Given the description of an element on the screen output the (x, y) to click on. 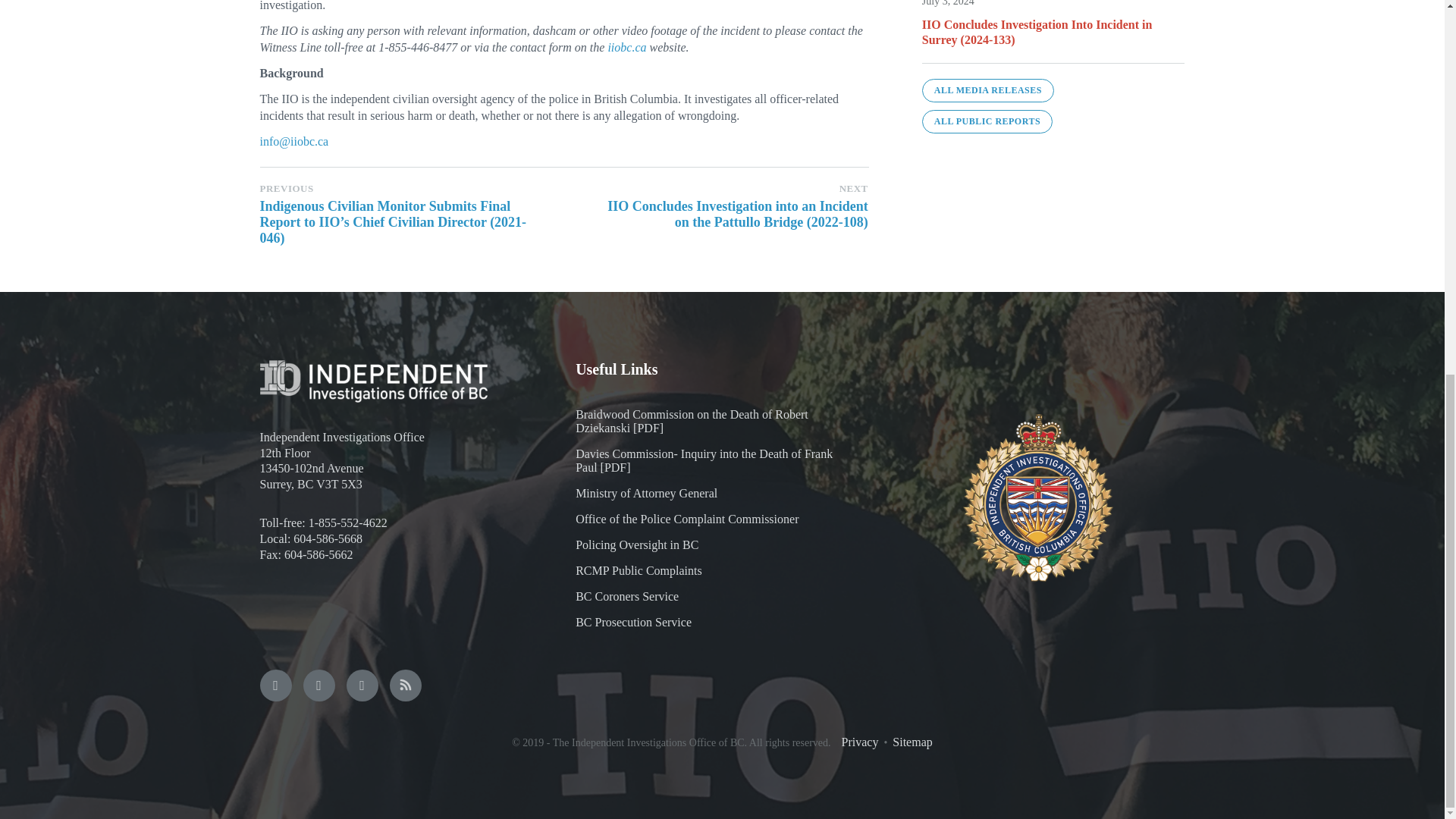
PREVIOUS (286, 188)
YouTube (361, 685)
RSS Feed (406, 685)
Facebook (275, 685)
iiobc.ca (626, 47)
Twitter (318, 685)
NEXT (853, 188)
